Given the description of an element on the screen output the (x, y) to click on. 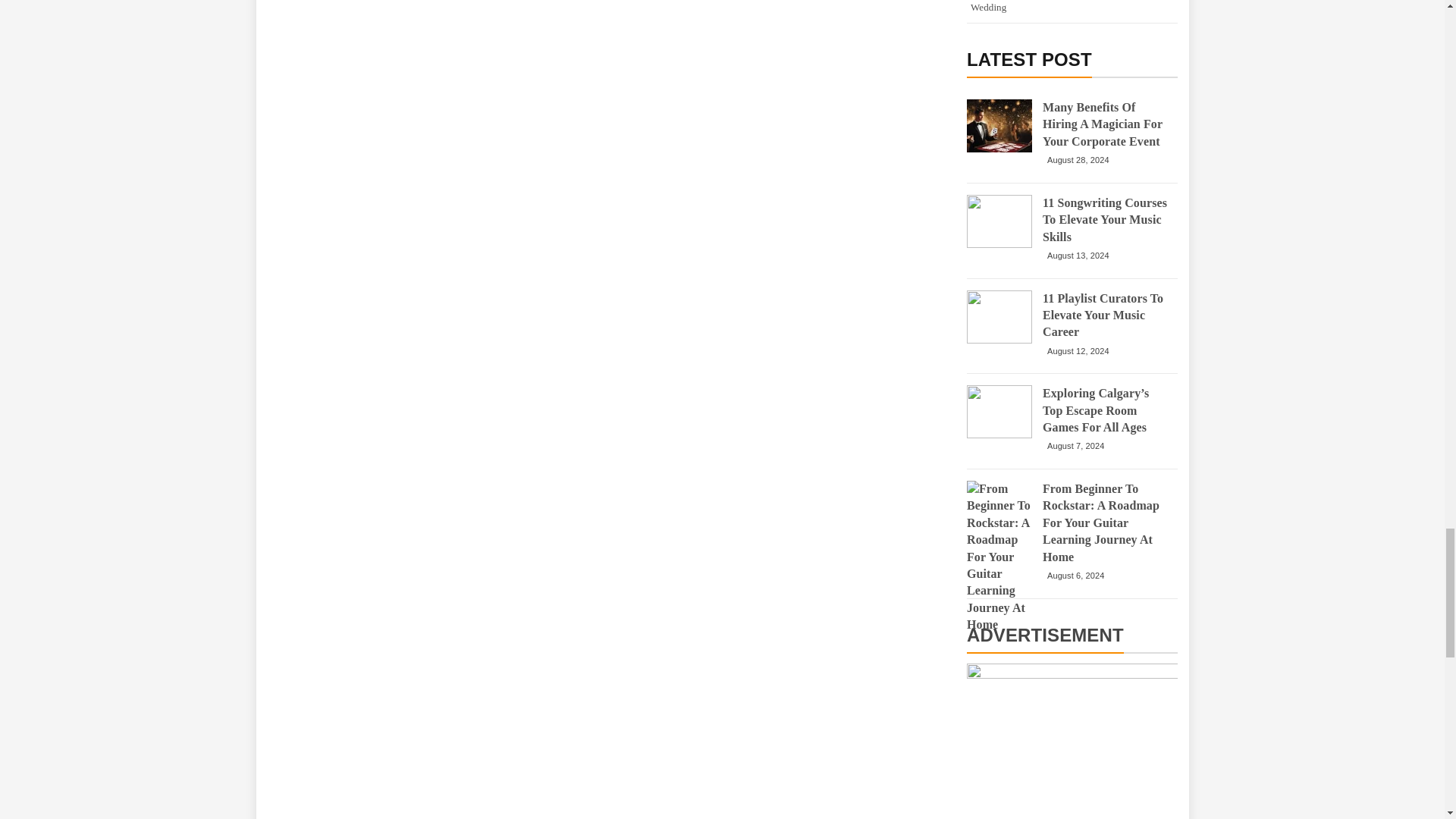
11 Songwriting Courses to Elevate Your Music Skills (999, 221)
11 Songwriting Courses to Elevate Your Music Skills (1106, 219)
